Given the description of an element on the screen output the (x, y) to click on. 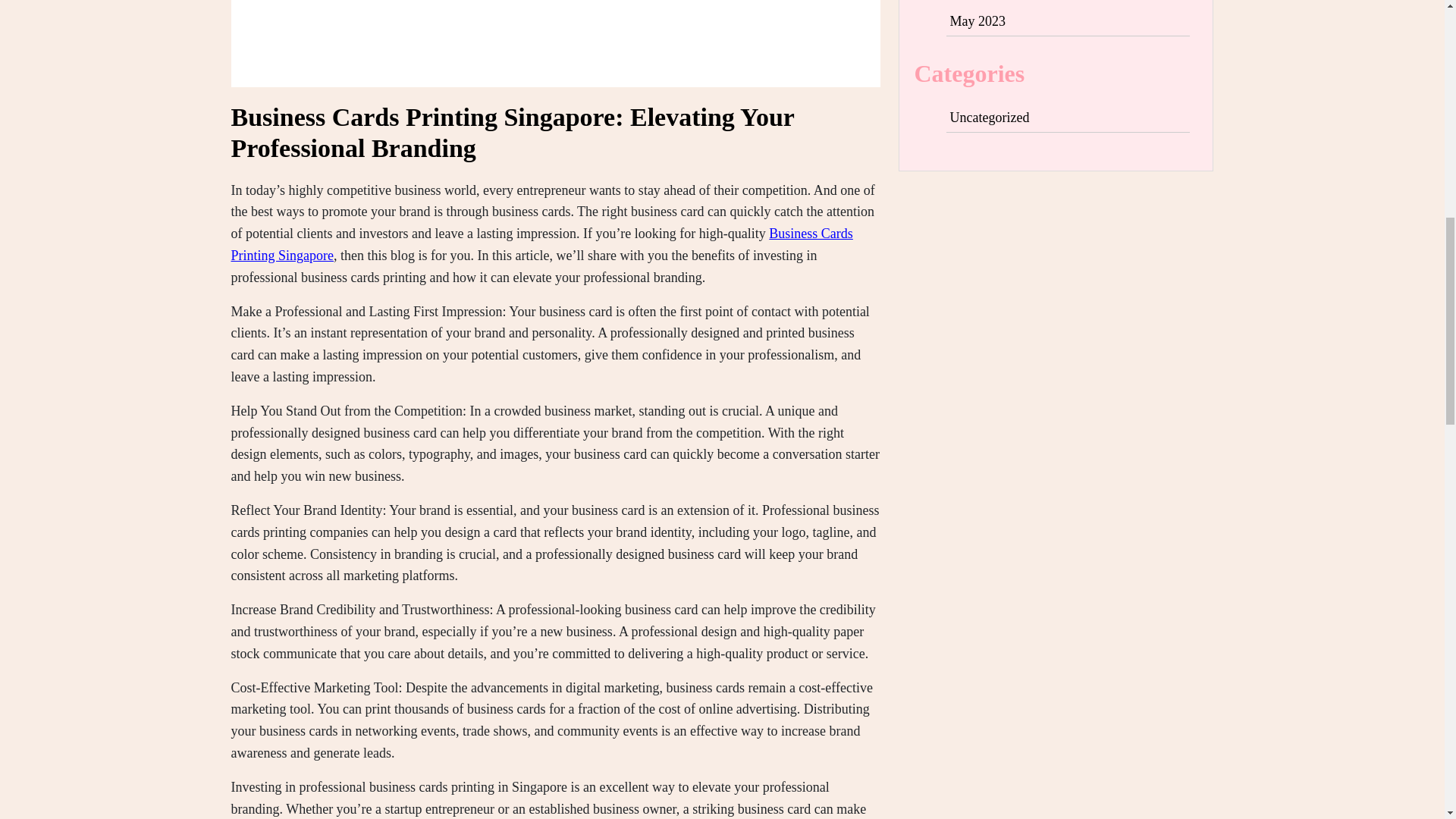
Uncategorized (989, 117)
Business Cards Printing Singapore (540, 244)
May 2023 (977, 20)
